Given the description of an element on the screen output the (x, y) to click on. 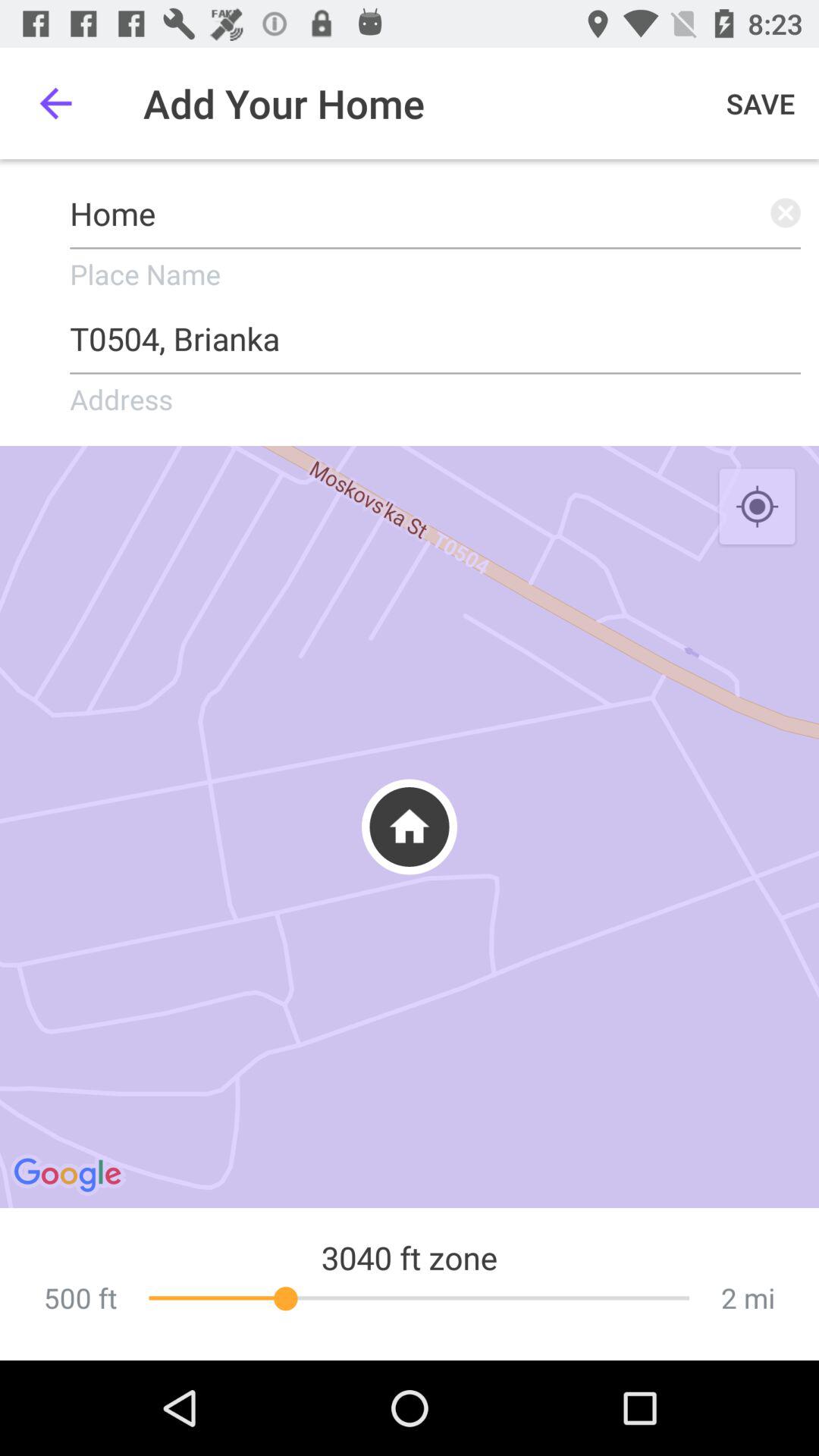
click the icon next to the add your home item (760, 103)
